Given the description of an element on the screen output the (x, y) to click on. 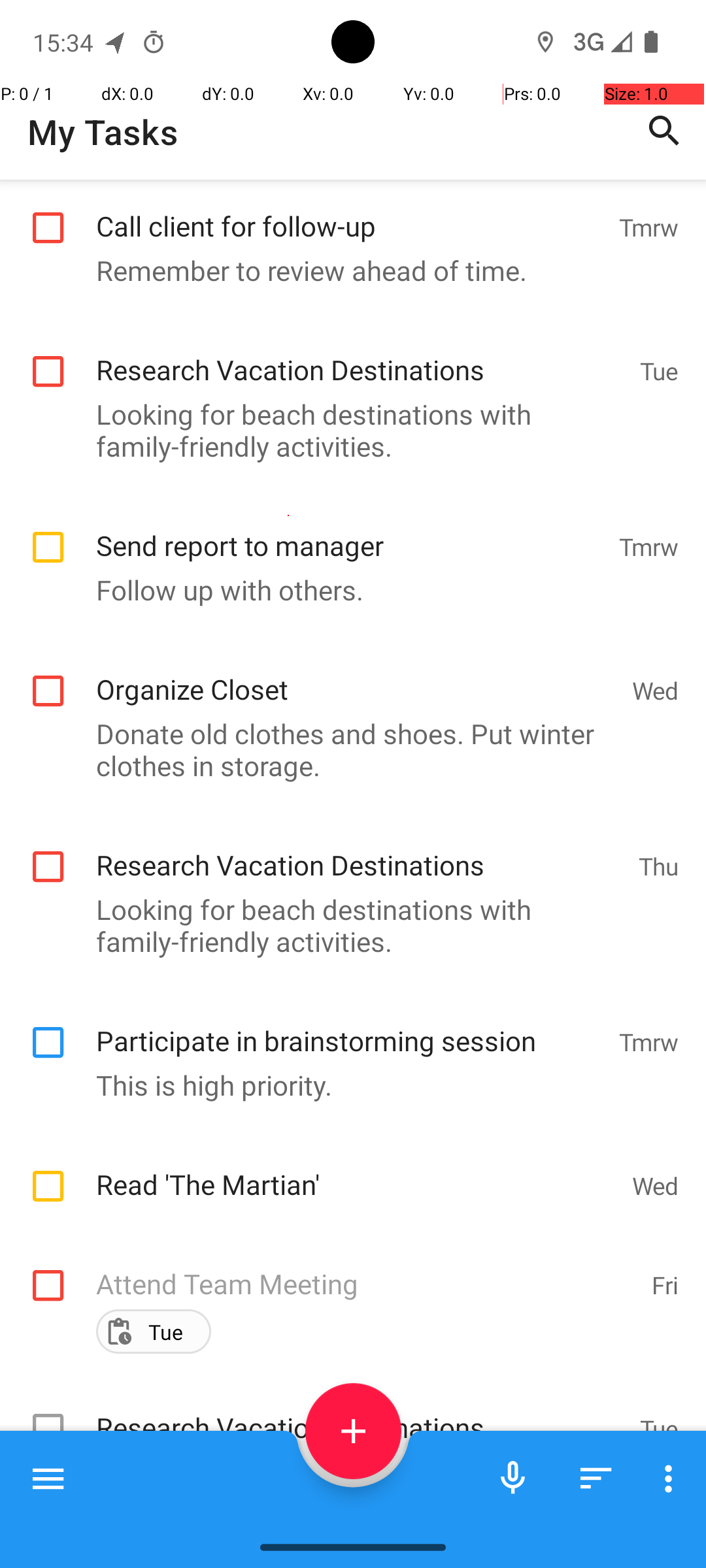
Call client for follow-up Element type: android.widget.TextView (350, 211)
Remember to review ahead of time. Element type: android.widget.TextView (346, 269)
Send report to manager Element type: android.widget.TextView (350, 531)
Follow up with others. Element type: android.widget.TextView (346, 589)
Participate in brainstorming session Element type: android.widget.TextView (350, 1026)
This is high priority. Element type: android.widget.TextView (346, 1084)
